Given the description of an element on the screen output the (x, y) to click on. 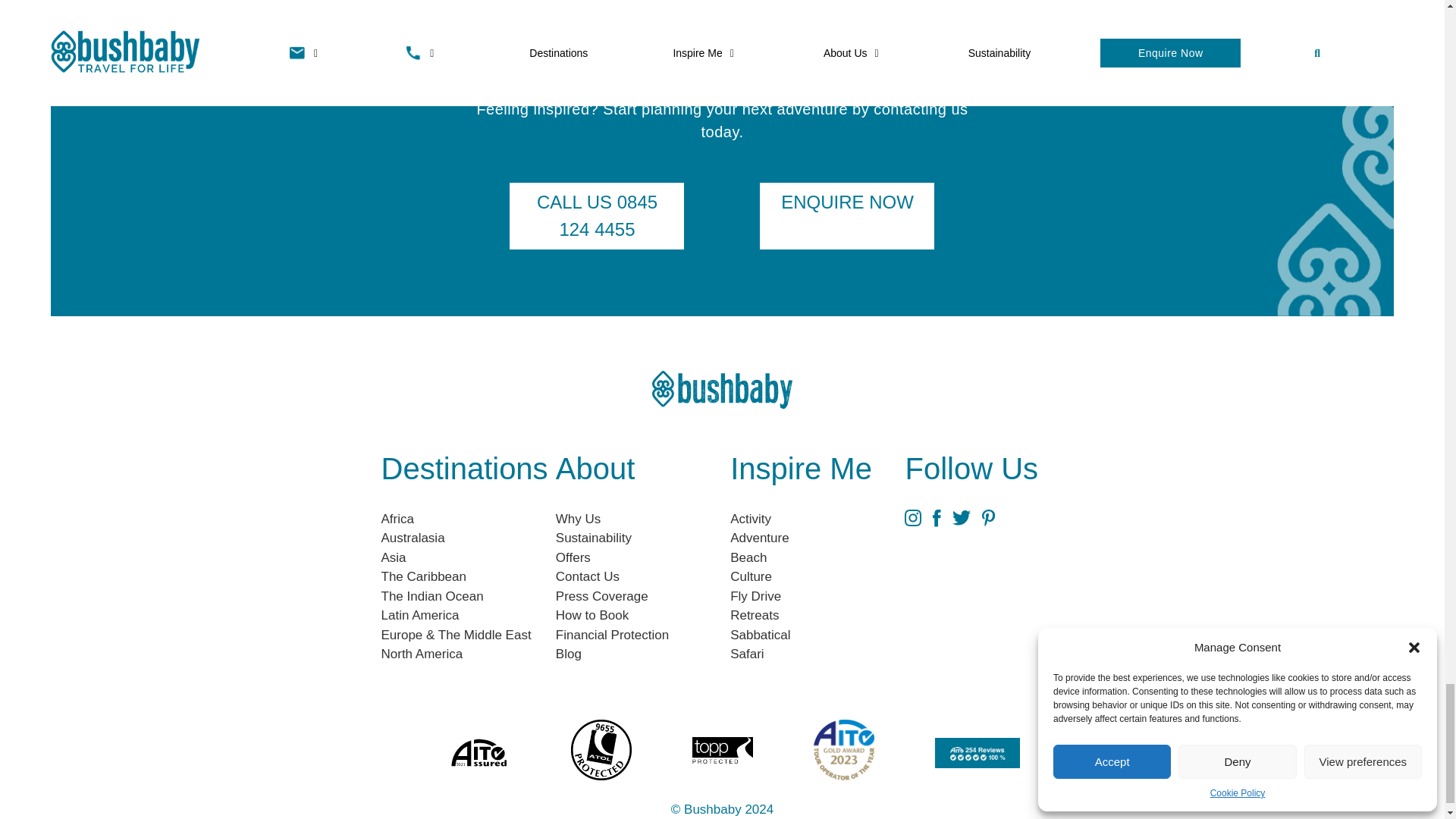
Click to show AITO Reviews (976, 752)
